Given the description of an element on the screen output the (x, y) to click on. 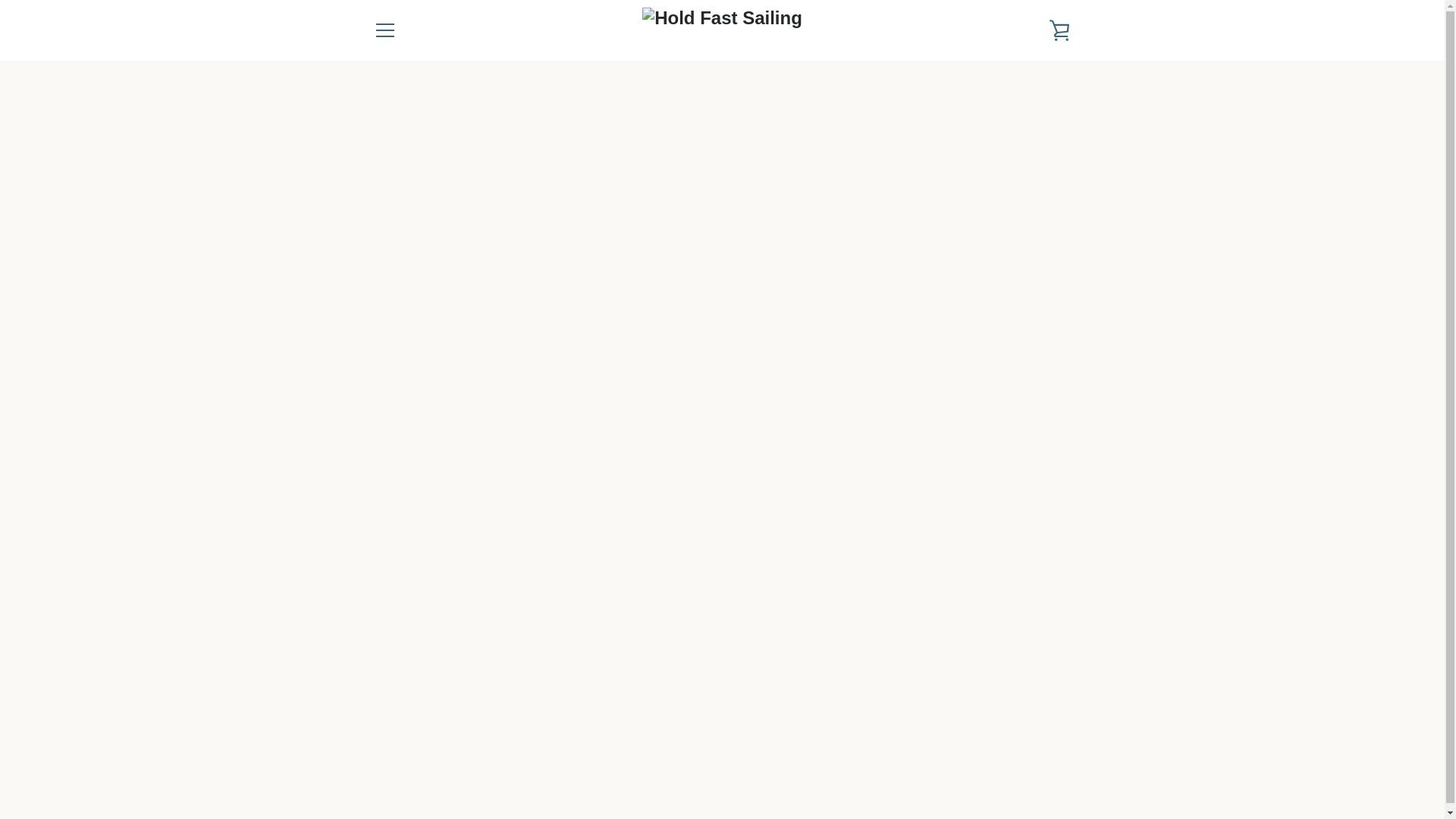
MENU (384, 30)
VIEW CART (1059, 30)
